Given the description of an element on the screen output the (x, y) to click on. 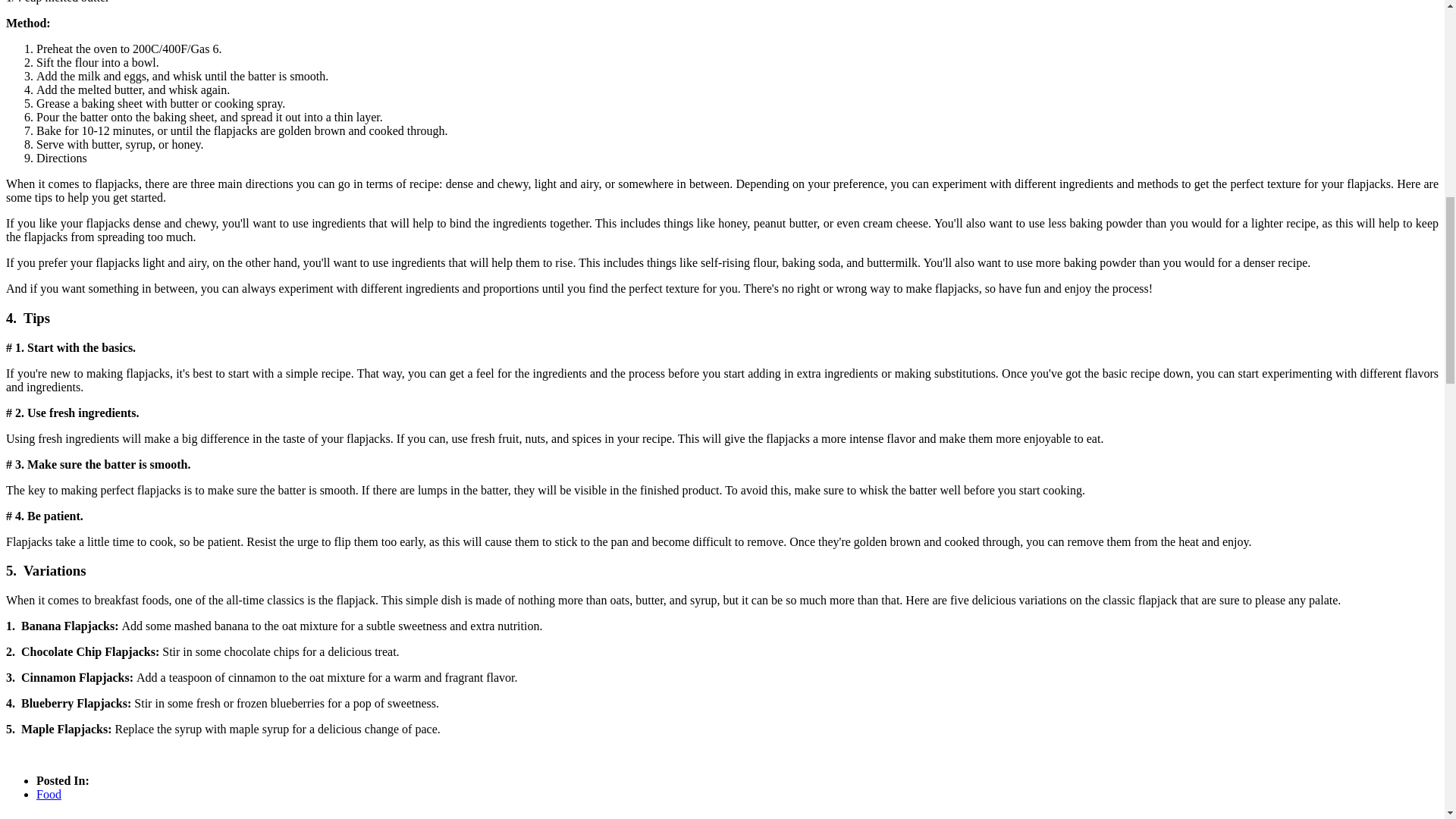
Food (48, 793)
